Given the description of an element on the screen output the (x, y) to click on. 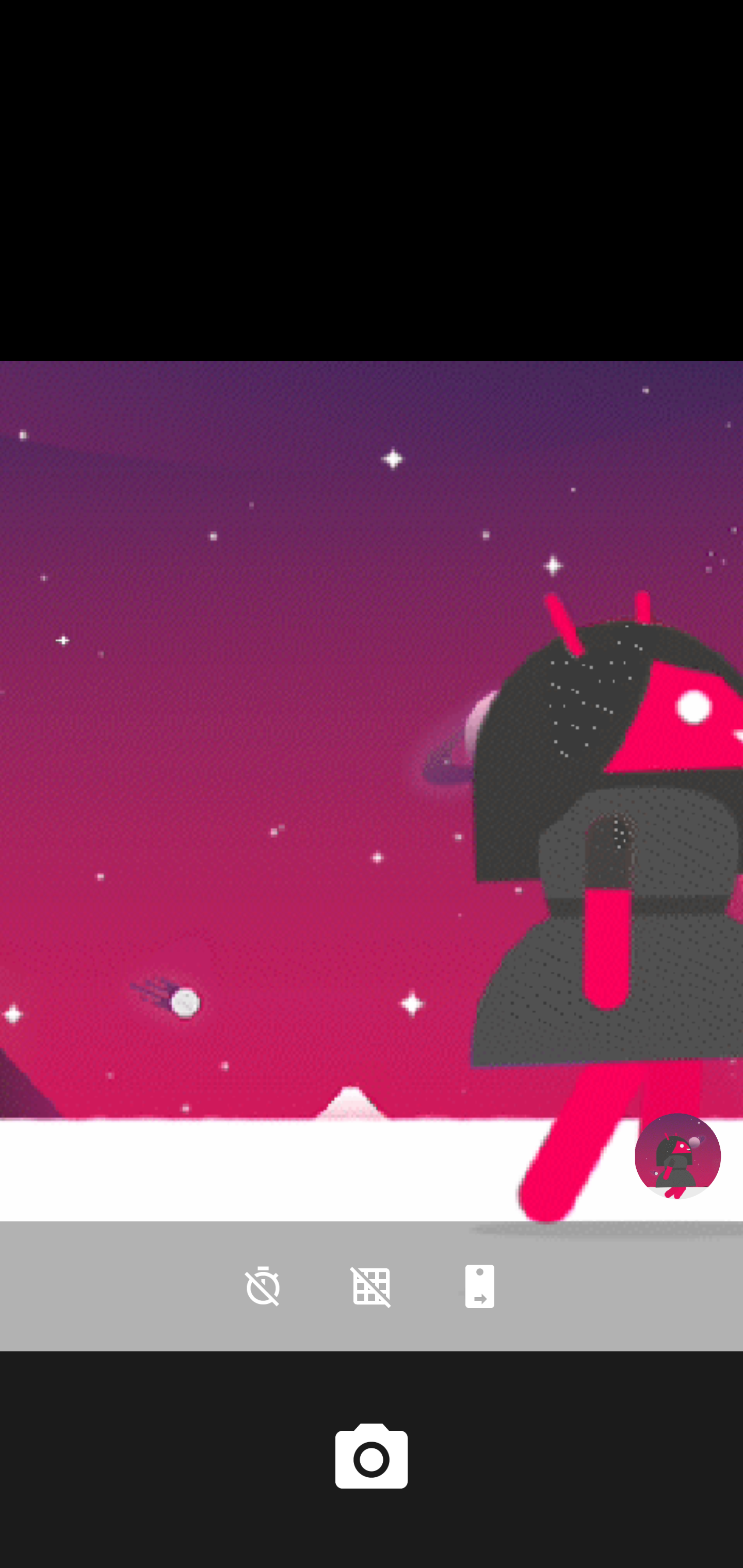
Countdown timer is off (262, 1286)
Grid lines off (371, 1286)
Back camera (479, 1286)
Shutter (371, 1459)
